Given the description of an element on the screen output the (x, y) to click on. 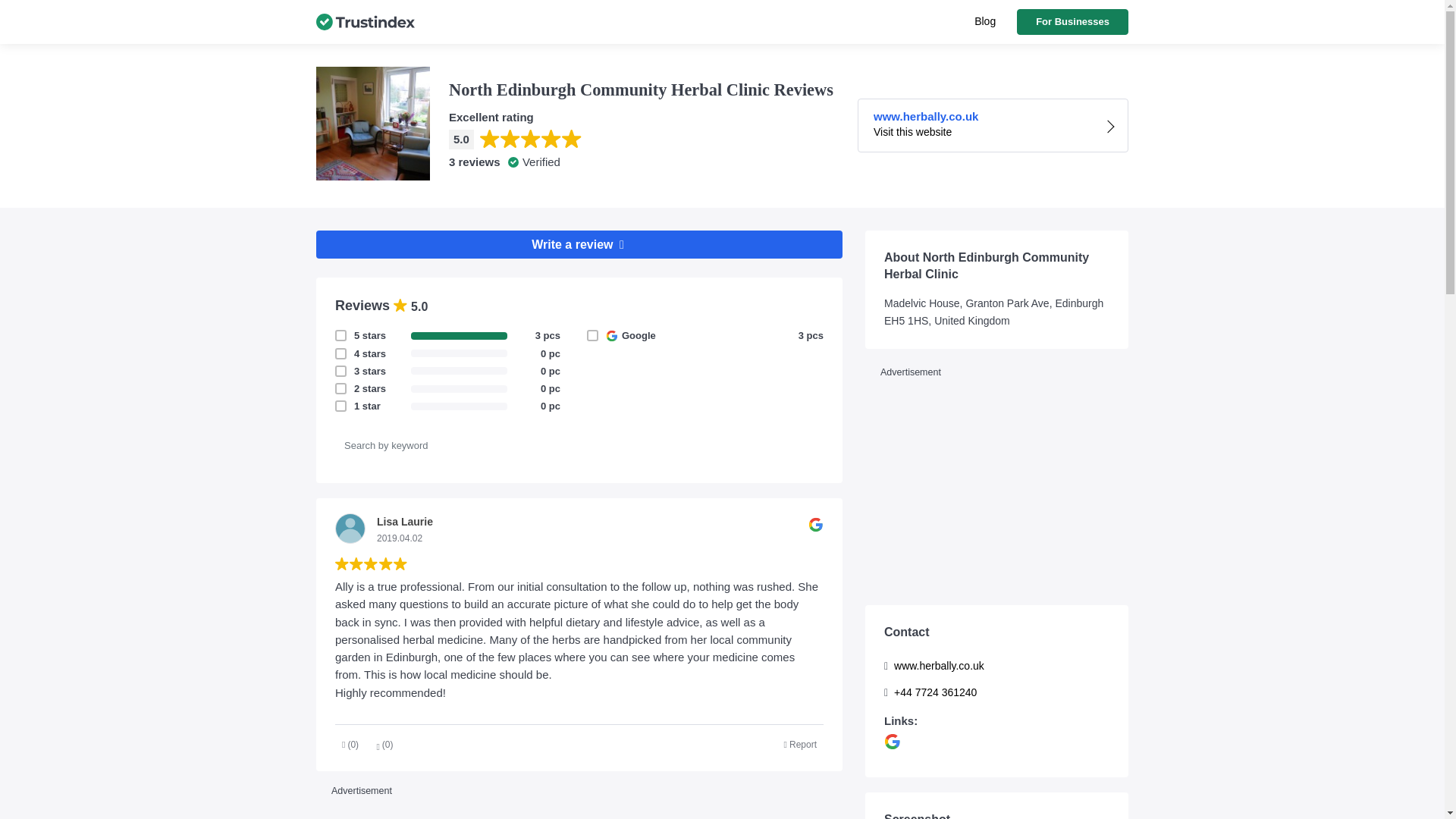
1 (354, 406)
Google (606, 335)
4 (354, 353)
2 (354, 388)
Write a review (579, 244)
For Businesses (1072, 22)
Blog (992, 125)
Advertisement (984, 21)
Advertisement (996, 487)
www.herbally.co.uk (579, 809)
Report (996, 665)
3 (800, 744)
5 (354, 370)
